Given the description of an element on the screen output the (x, y) to click on. 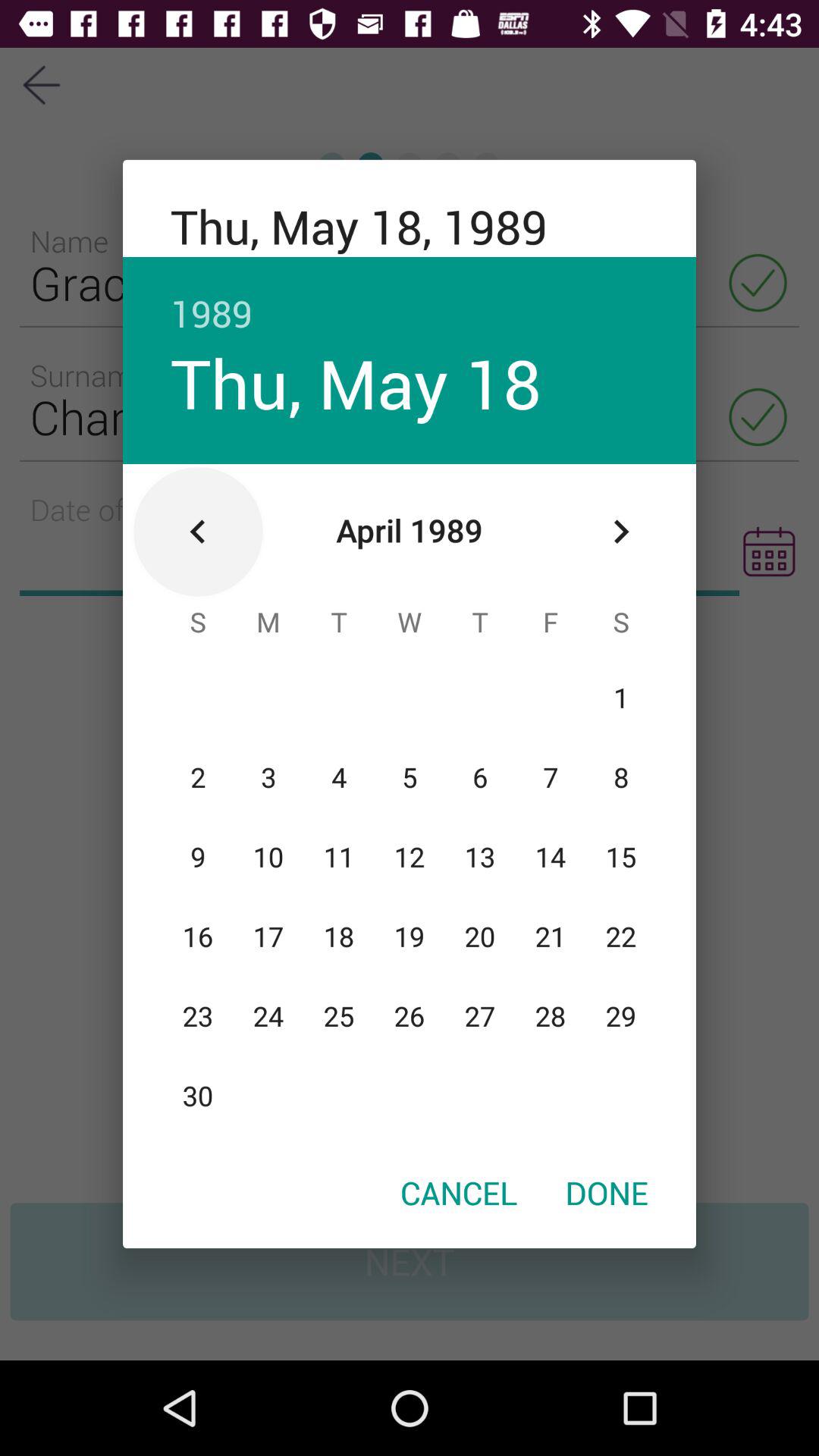
launch the icon next to the cancel icon (606, 1192)
